Given the description of an element on the screen output the (x, y) to click on. 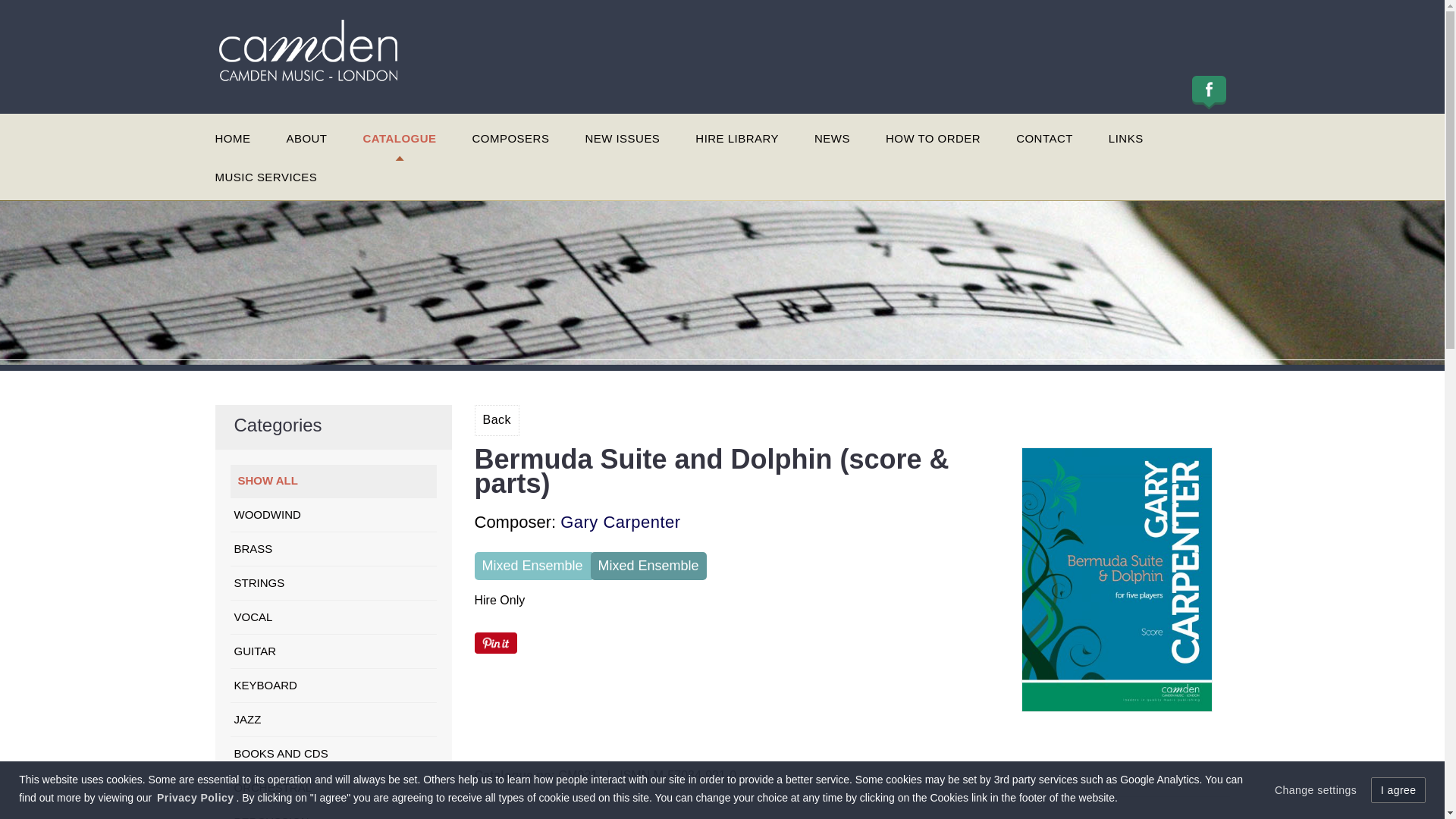
HOME (232, 140)
CATALOGUE (398, 140)
Change settings (1316, 790)
HIRE LIBRARY (736, 140)
Privacy Policy (194, 797)
COMPOSERS (510, 140)
NEW ISSUES (622, 140)
ABOUT (305, 140)
I agree (1398, 790)
